Given the description of an element on the screen output the (x, y) to click on. 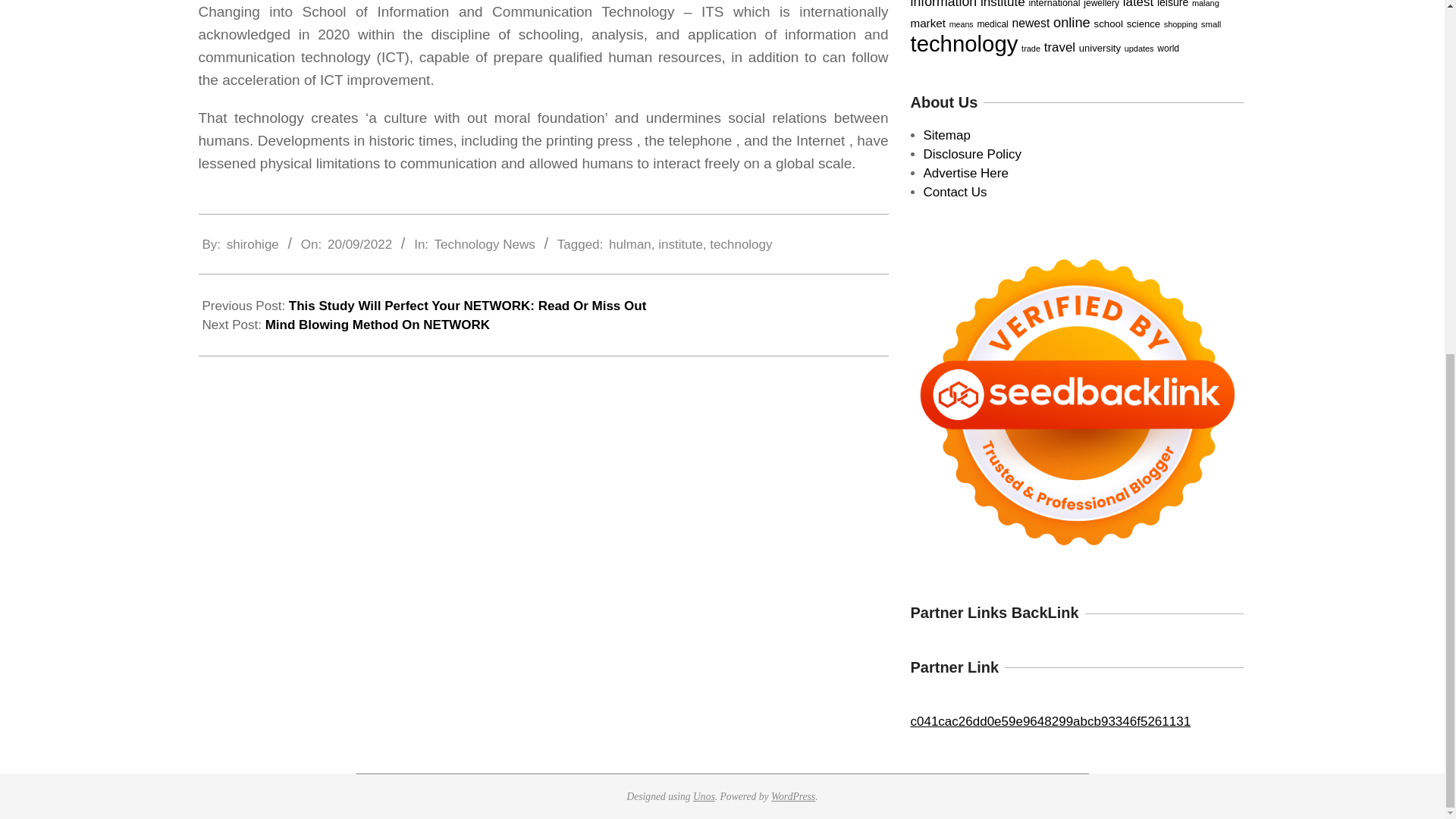
shirohige (253, 244)
hulman (629, 244)
technology (740, 244)
Technology News (483, 244)
Tuesday, September 20, 2022, 7:37 pm (359, 244)
This Study Will Perfect Your NETWORK: Read Or Miss Out (467, 305)
institute (680, 244)
Mind Blowing Method On NETWORK (377, 324)
Unos WordPress Theme (703, 796)
Seedbacklink (1076, 402)
Posts by shirohige (253, 244)
